Given the description of an element on the screen output the (x, y) to click on. 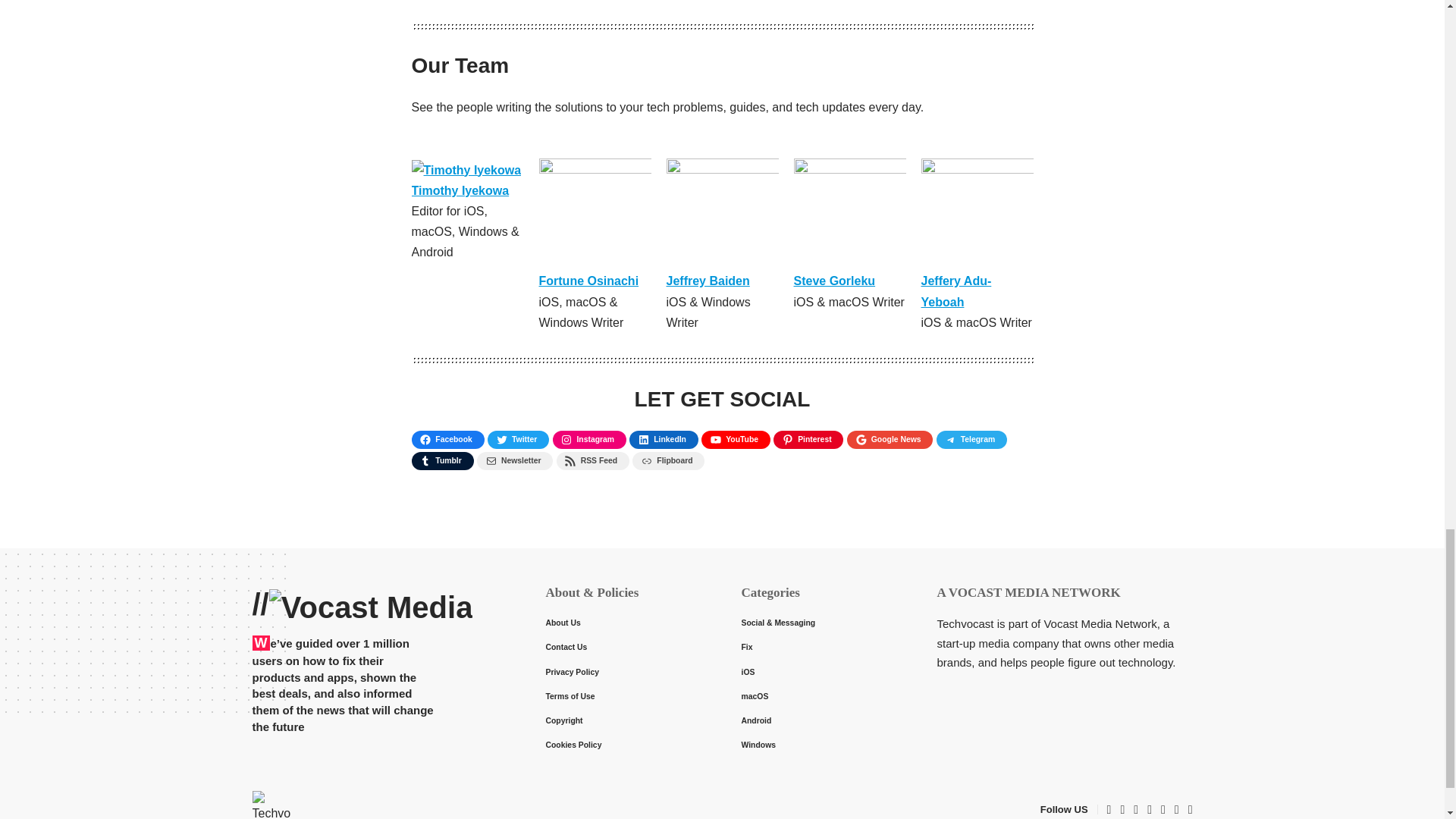
Techvocast (270, 805)
Timothy Iyekowa (459, 190)
Fortune Osinachi (588, 280)
